Given the description of an element on the screen output the (x, y) to click on. 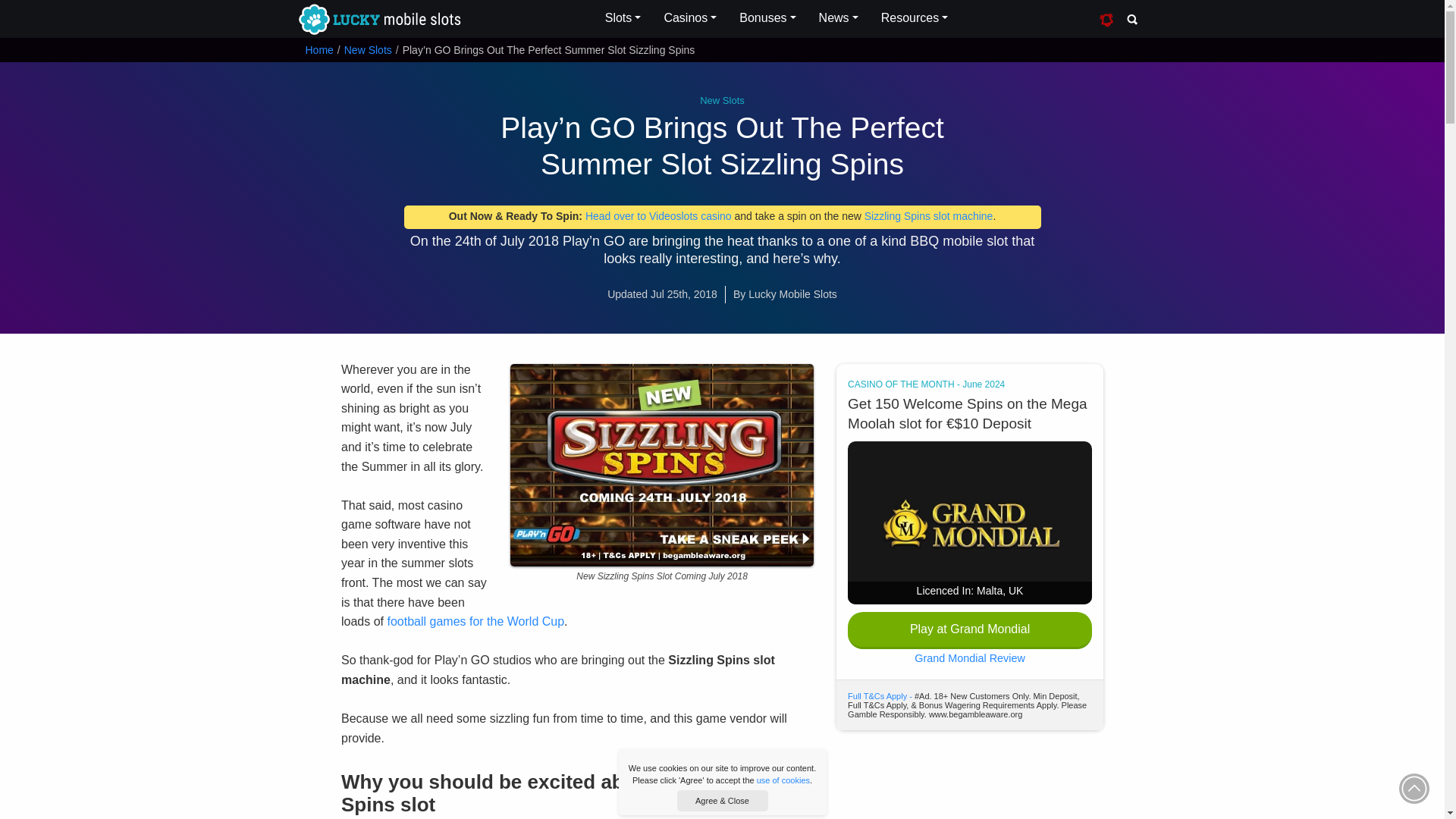
Slots (623, 18)
Lucky Mobile Slots (378, 20)
Casinos (690, 18)
Bonuses (767, 18)
New Slots (367, 49)
News (838, 18)
Resources (914, 18)
Sizzling Spins Slot Review (928, 215)
Football Slots (475, 621)
Play Sizzling Spins at Videoslots (658, 215)
Home (318, 49)
